Given the description of an element on the screen output the (x, y) to click on. 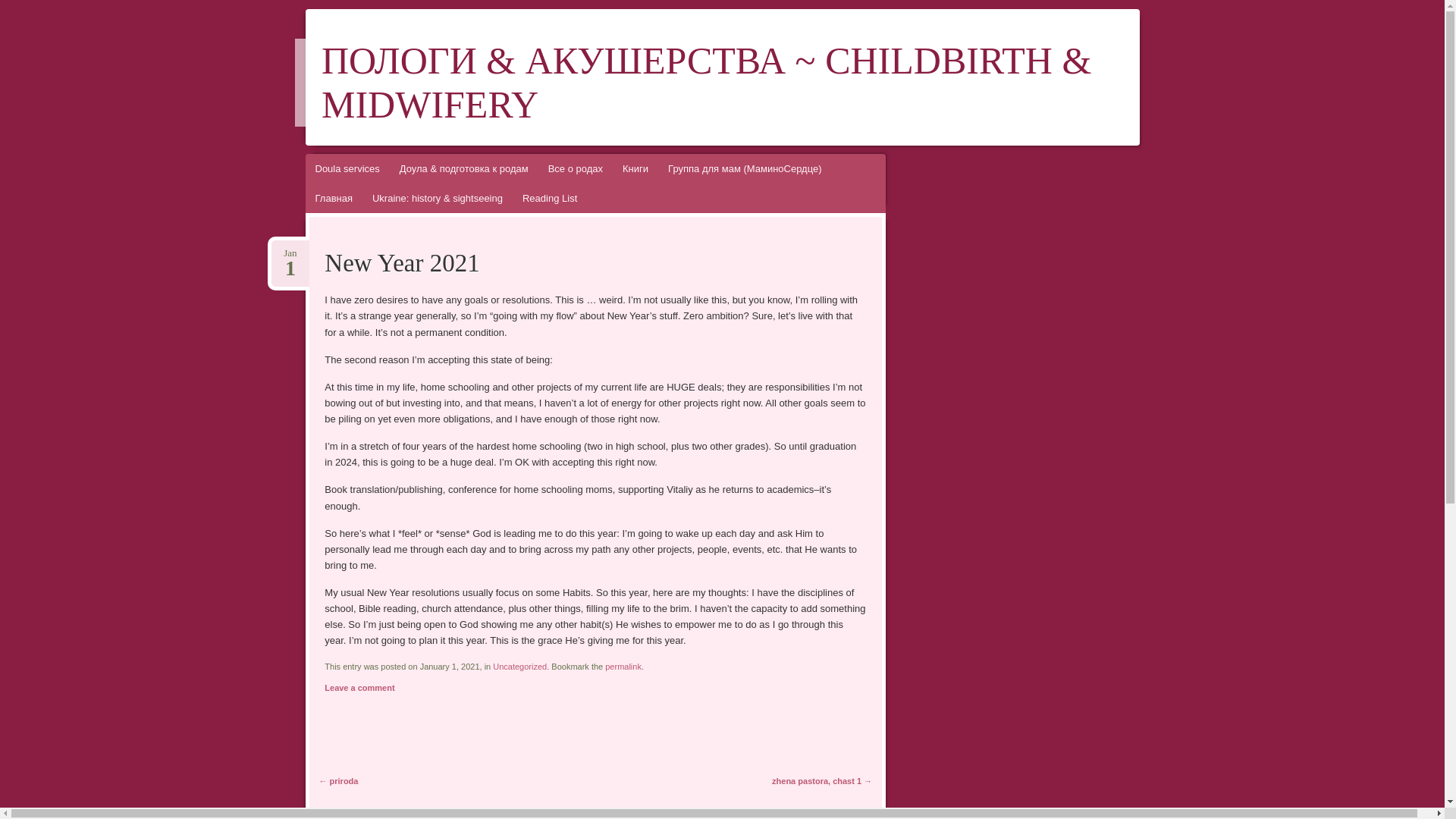
January 1, 2021 (289, 253)
Doula services (346, 168)
Leave a comment (359, 687)
Permalink to New Year 2021 (623, 665)
Advent Scripture readings (957, 403)
About Me (289, 253)
Keeping the flame alive for a lifetime (926, 499)
Search (975, 335)
Reading List (21, 7)
continuing my studies (549, 197)
Uncategorized (949, 312)
permalink (520, 665)
7 Natural Wonders of Ukraine (623, 665)
2023 and midwifery (963, 476)
